Given the description of an element on the screen output the (x, y) to click on. 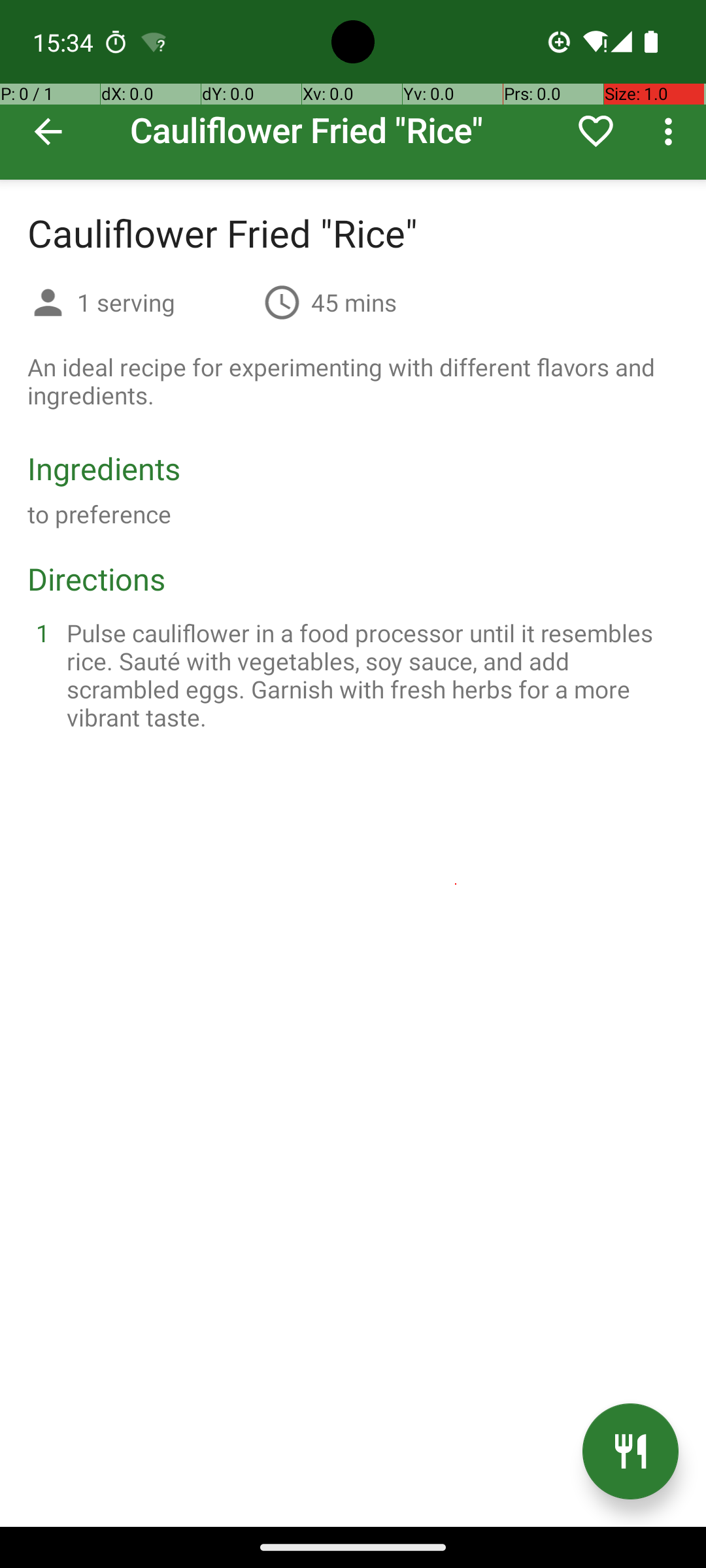
Pulse cauliflower in a food processor until it resembles rice. Sauté with vegetables, soy sauce, and add scrambled eggs. Garnish with fresh herbs for a more vibrant taste. Element type: android.widget.TextView (368, 674)
